Given the description of an element on the screen output the (x, y) to click on. 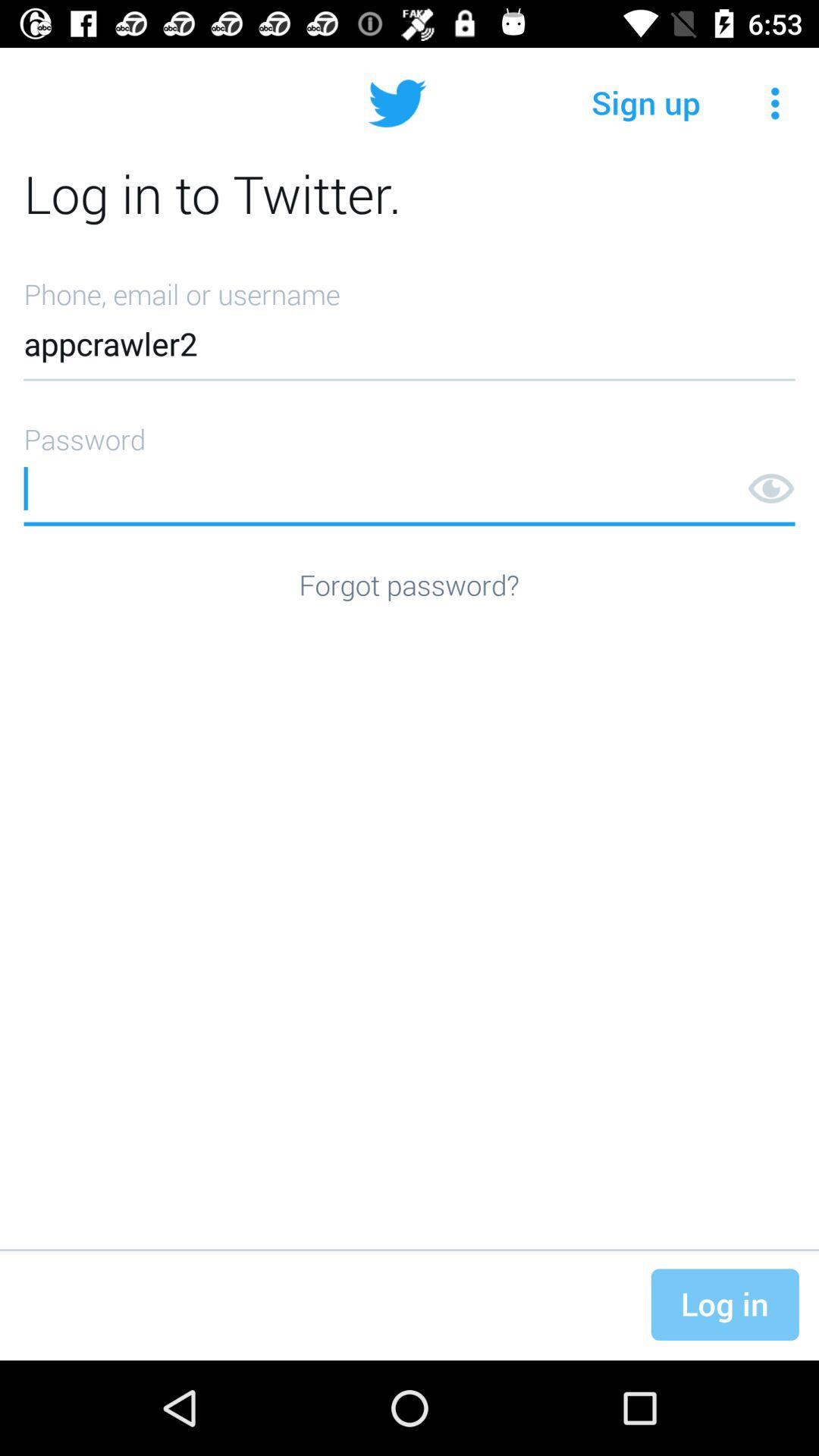
turn off appcrawler2 item (409, 323)
